Given the description of an element on the screen output the (x, y) to click on. 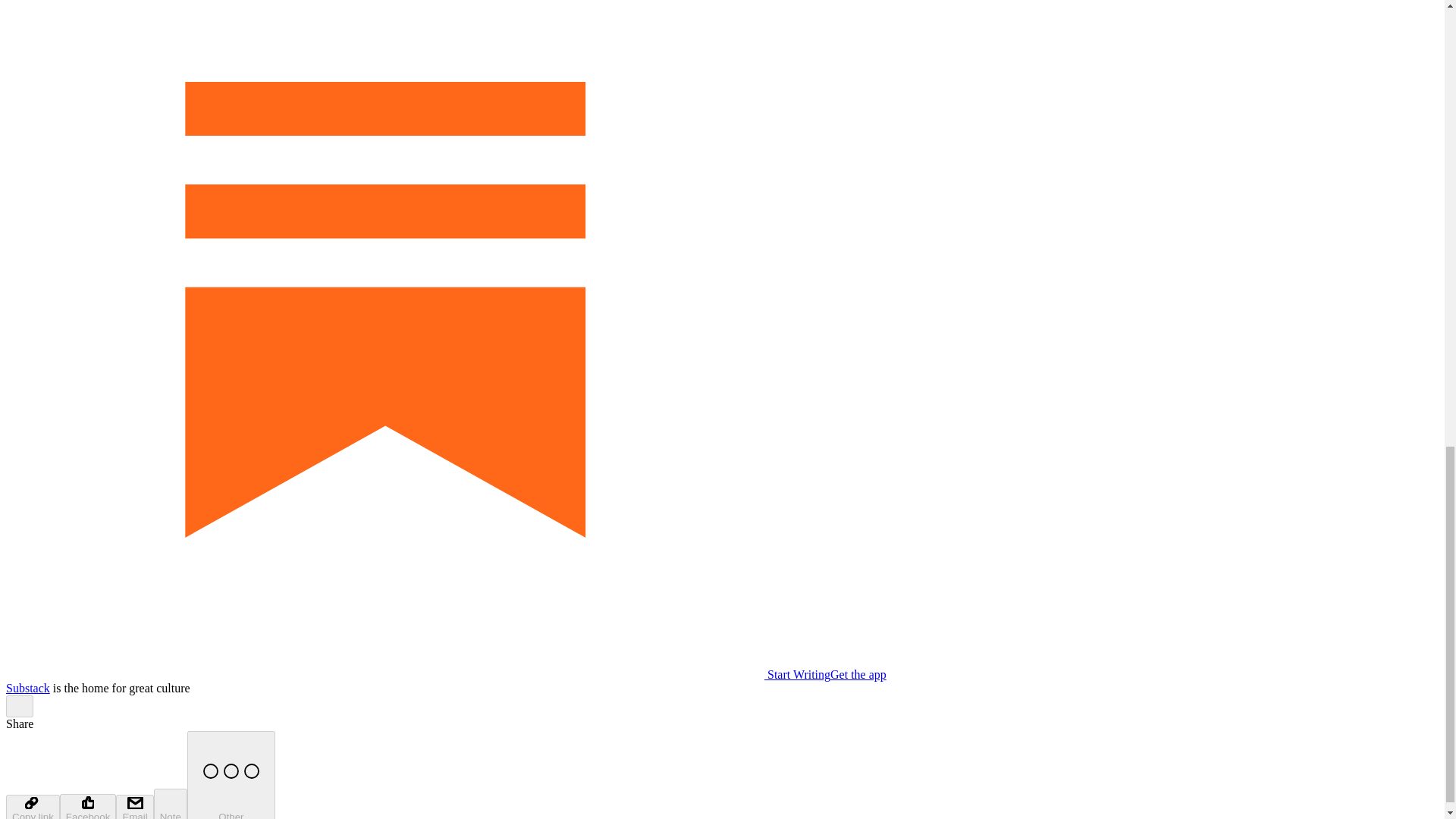
Start Writing (417, 674)
Get the app (857, 674)
Substack (27, 687)
